Given the description of an element on the screen output the (x, y) to click on. 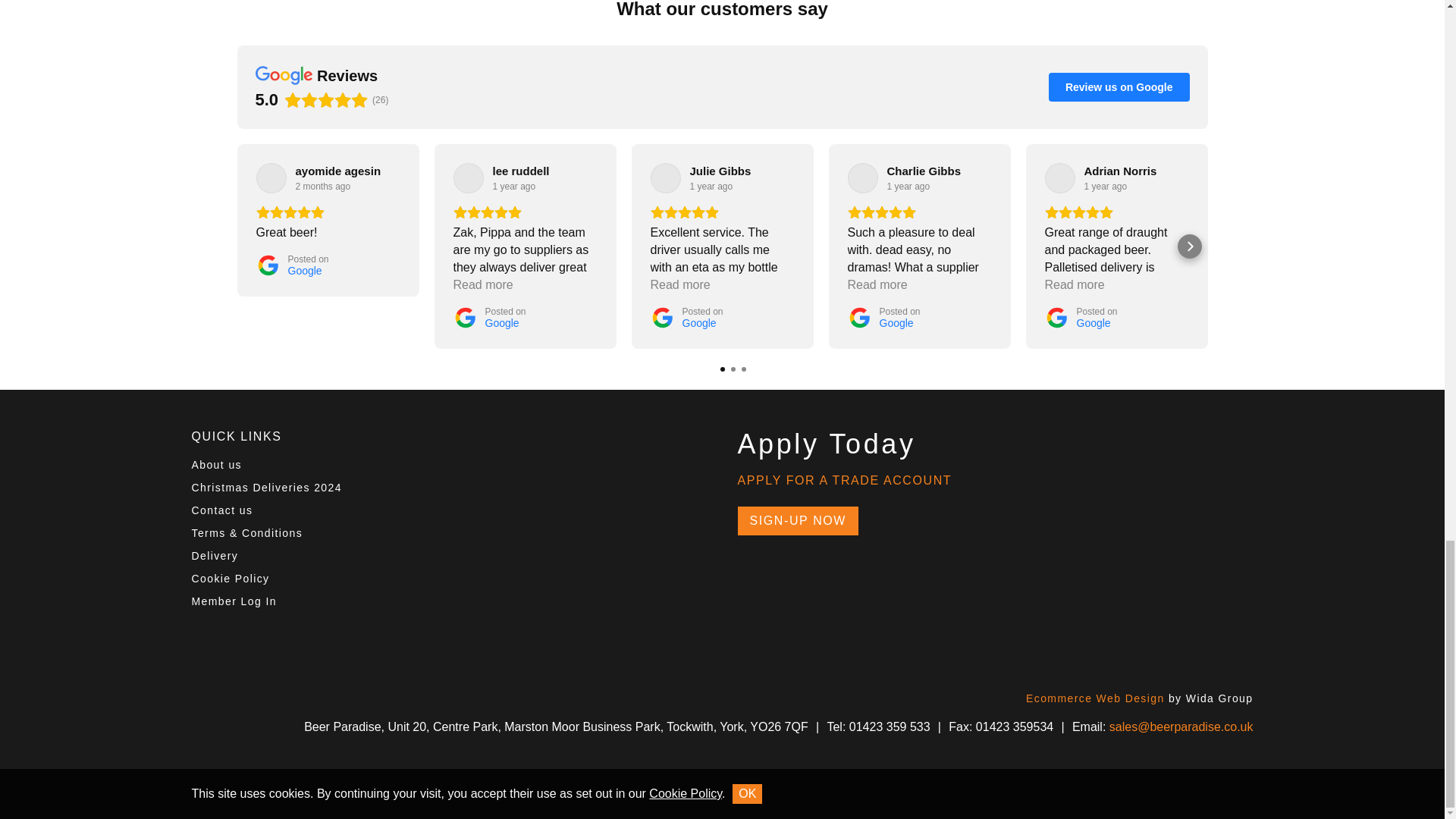
Review us on Google (1118, 86)
ayomide agesin (338, 171)
